Given the description of an element on the screen output the (x, y) to click on. 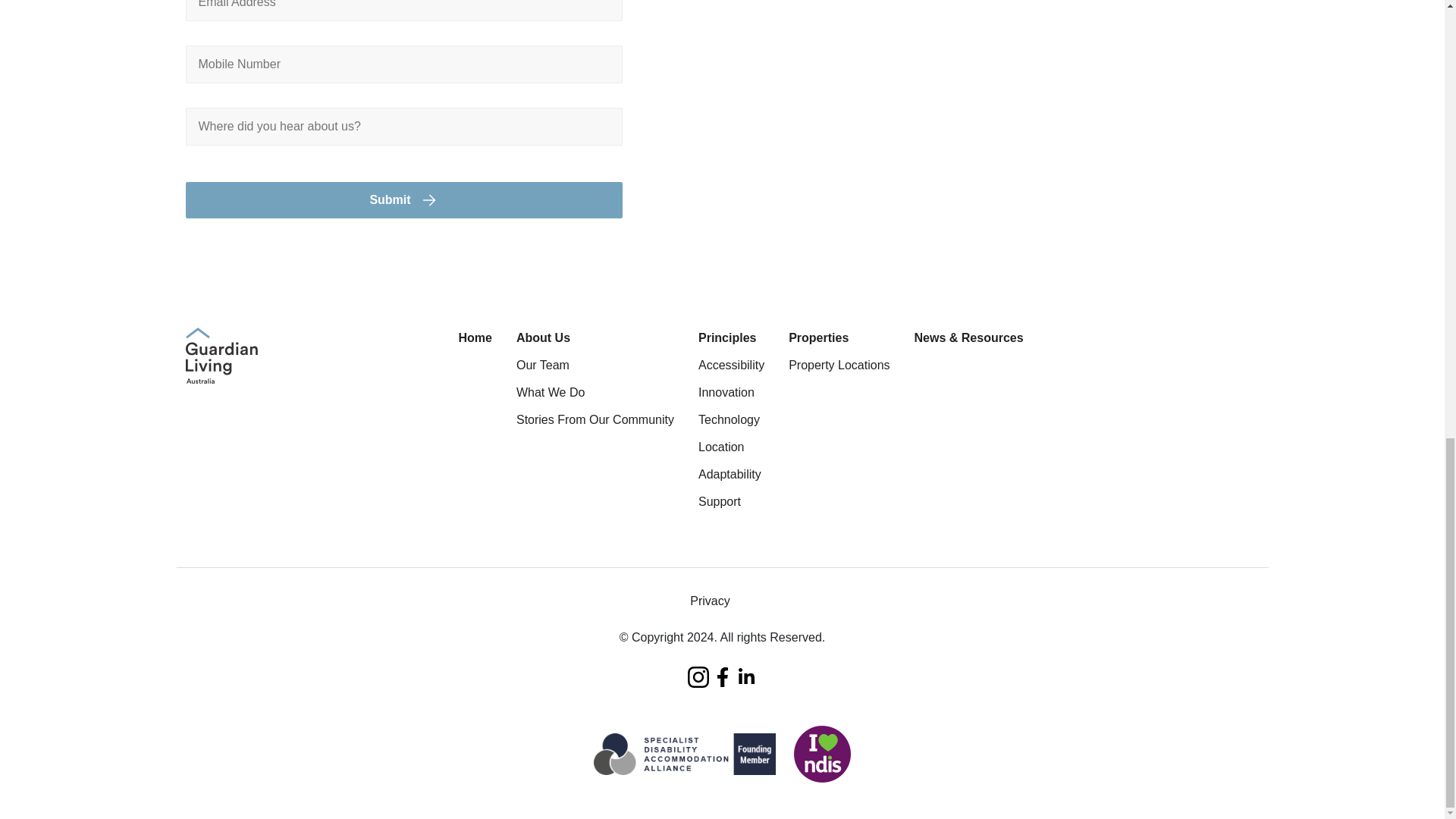
What We Do (595, 392)
Properties (839, 337)
About Us (595, 337)
Adaptability (731, 474)
Principles (731, 337)
Location (731, 446)
Stories From Our Community (595, 419)
Accessibility (731, 364)
Technology (731, 419)
Our Team (595, 364)
